Given the description of an element on the screen output the (x, y) to click on. 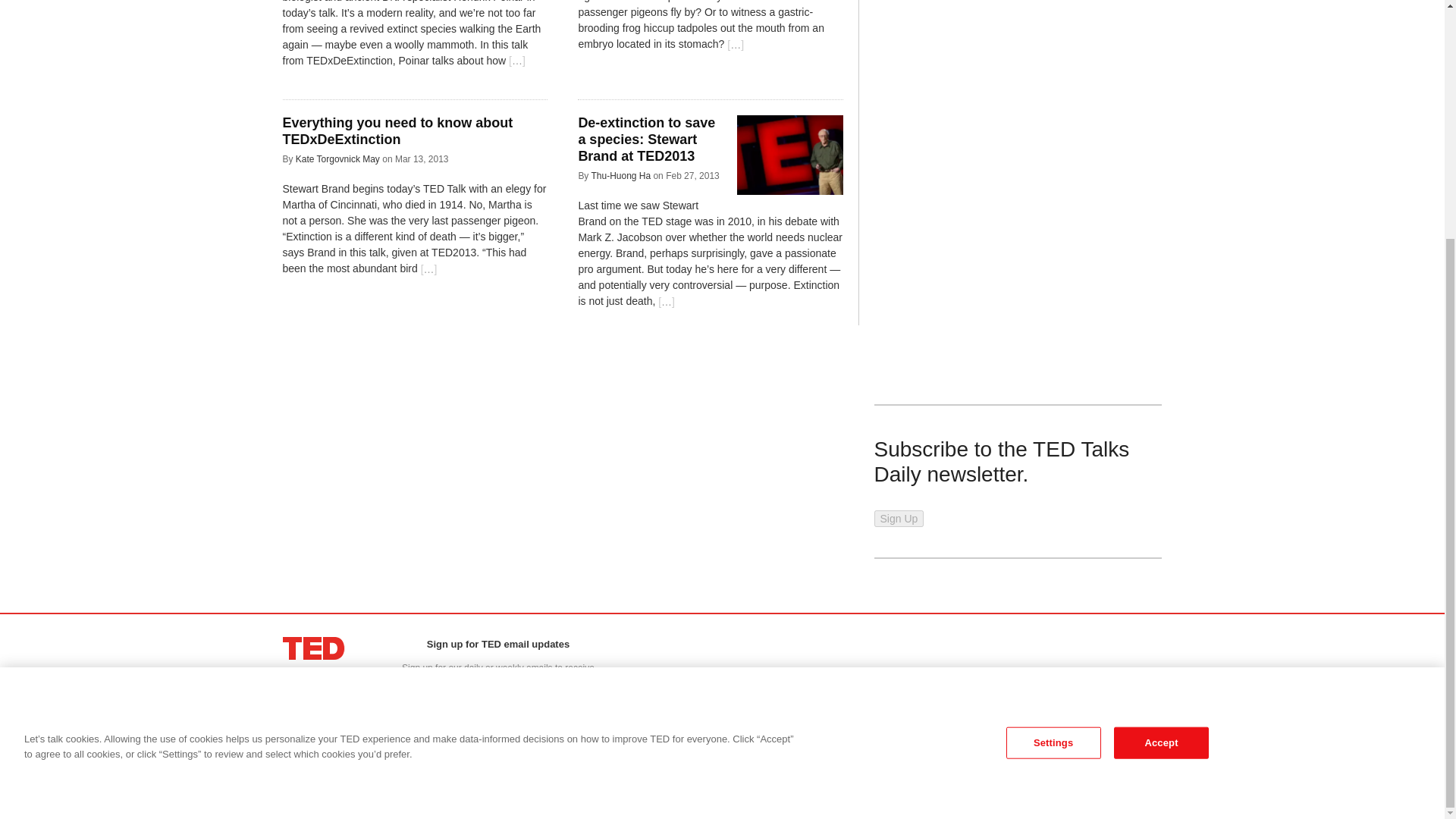
Sign Up (497, 718)
Kate Torgovnick May (337, 158)
Settings (1053, 415)
Everything you need to know about TEDxDeExtinction (397, 131)
Read more (734, 44)
Posts by Thu-Huong Ha (620, 175)
TED (313, 648)
Sign Up (898, 518)
Sign Up (898, 518)
Sign Up (497, 718)
Posts by Kate Torgovnick May (337, 158)
Read more (516, 60)
De-extinction to save a species: Stewart Brand at TED2013 (646, 138)
TED.com (313, 648)
Accept (1160, 415)
